Given the description of an element on the screen output the (x, y) to click on. 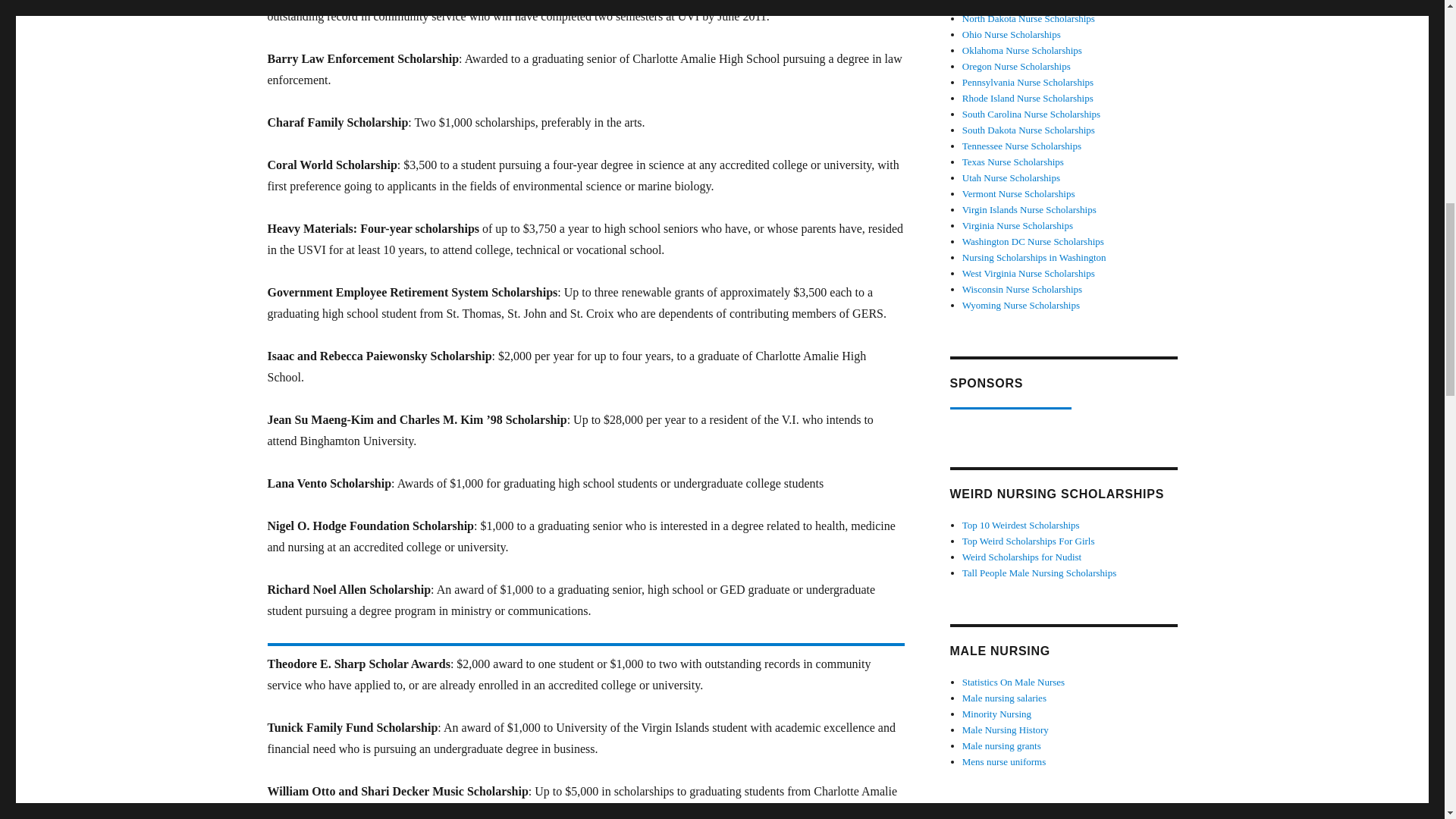
North Carolina Nurse Scholarships (1031, 4)
North Dakota Nurse Scholarships (1028, 18)
